Given the description of an element on the screen output the (x, y) to click on. 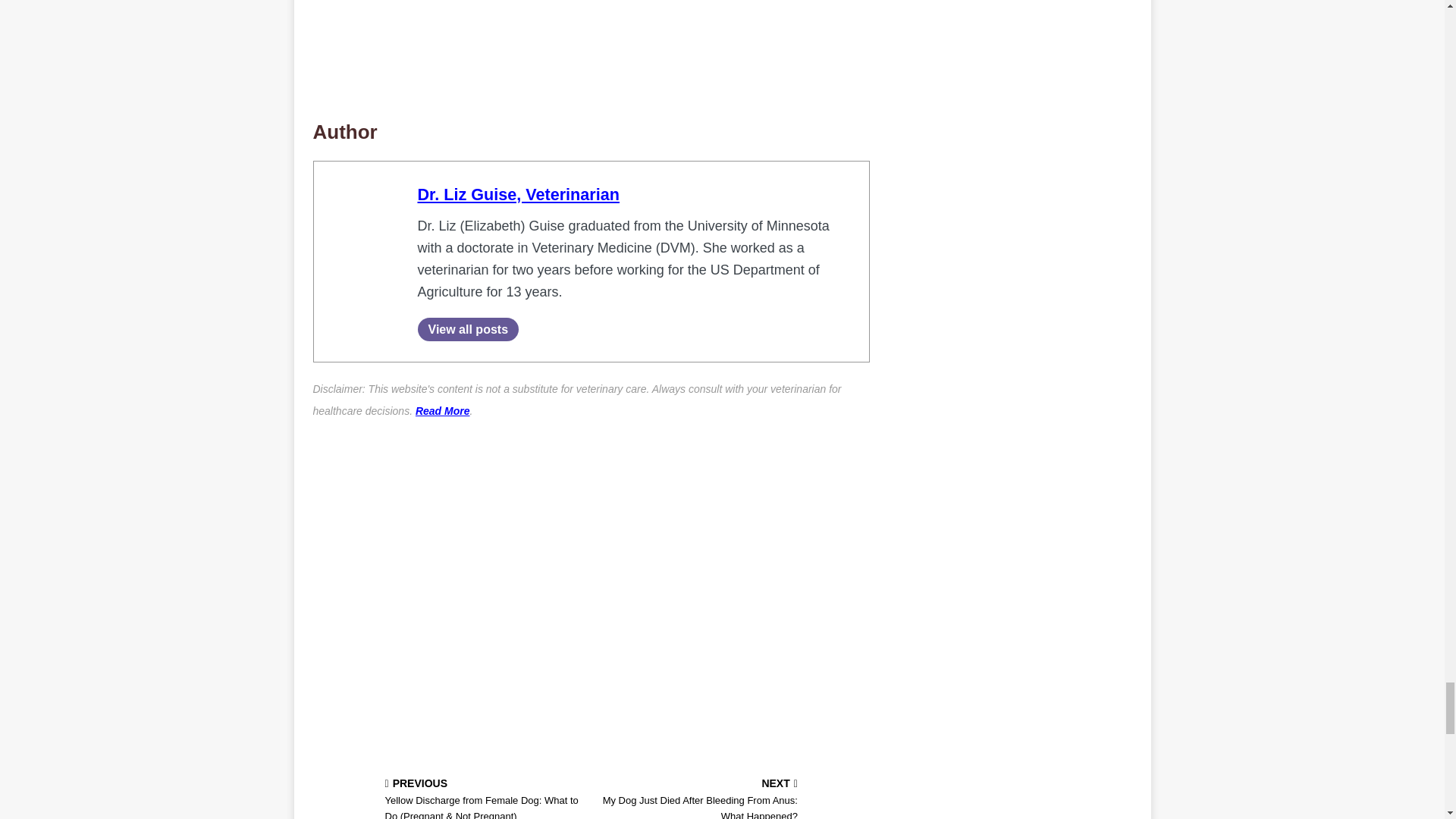
View all posts (467, 329)
Dr. Liz Guise, Veterinarian (517, 194)
